Given the description of an element on the screen output the (x, y) to click on. 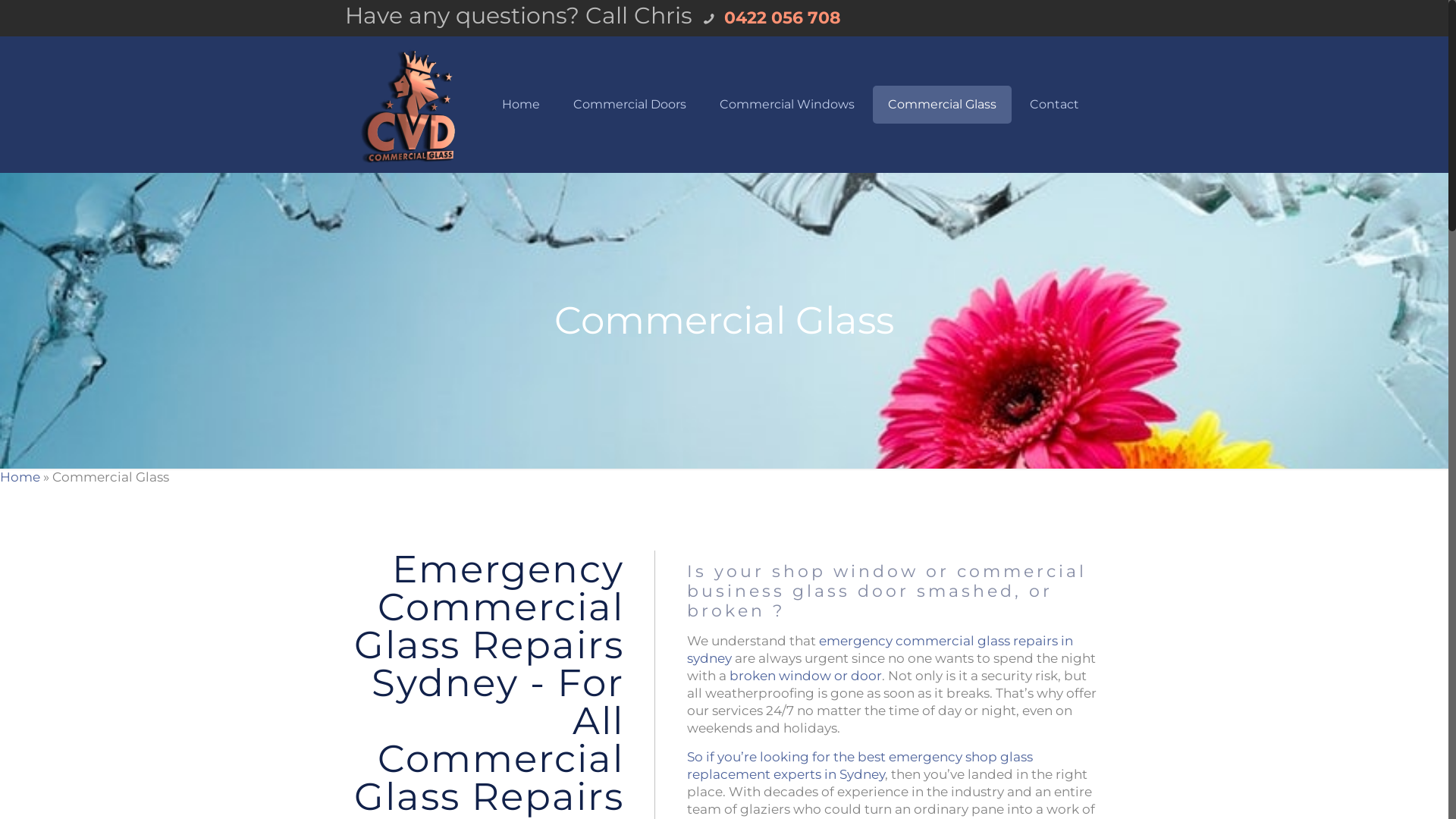
Home Element type: text (520, 104)
0422 056 708 Element type: text (779, 17)
broken window or door Element type: text (805, 675)
Contact Element type: text (1054, 104)
Commercial Glass Element type: text (941, 104)
emergency commercial glass repairs in sydney Element type: text (880, 649)
Commercial Windows Element type: text (786, 104)
Home Element type: text (20, 476)
Commercial Doors Element type: text (629, 104)
